Given the description of an element on the screen output the (x, y) to click on. 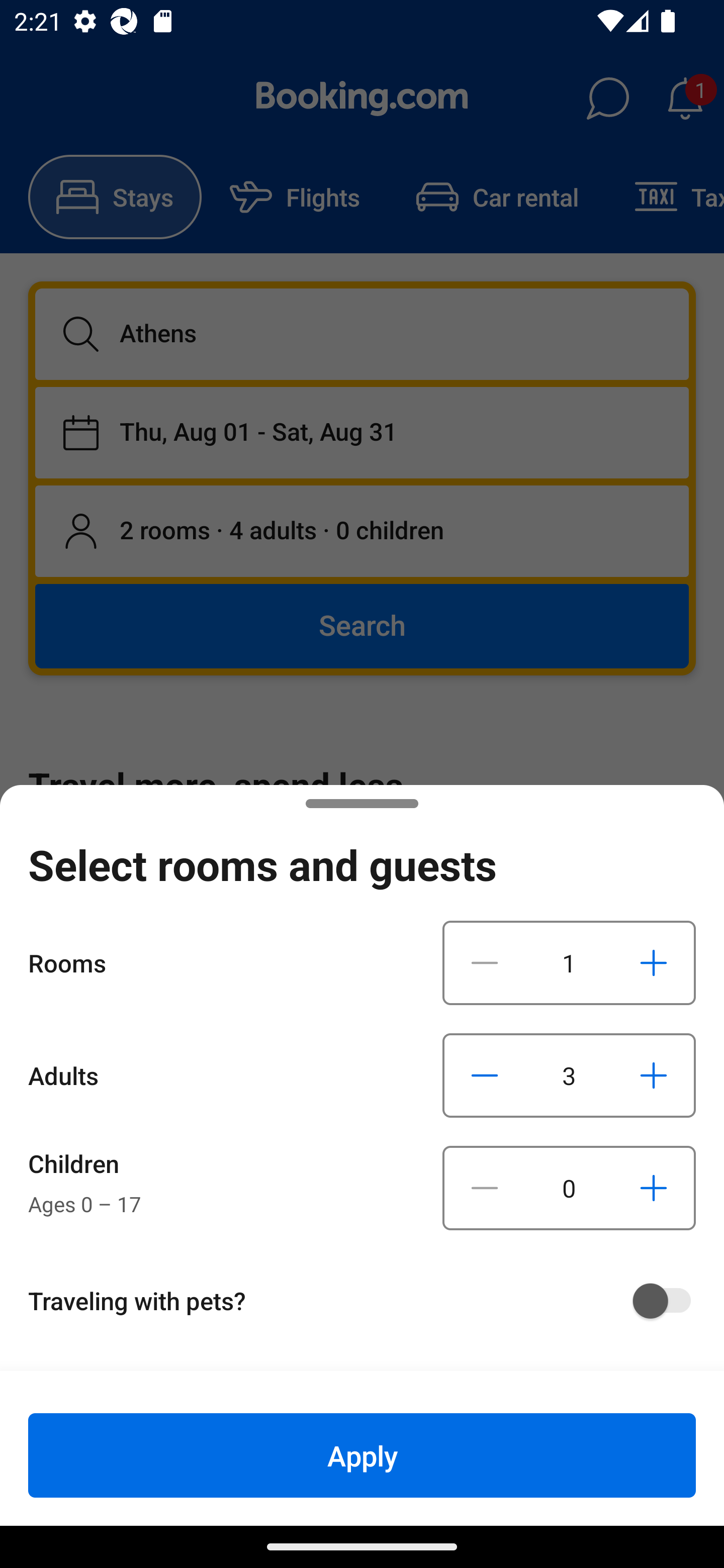
Decrease (484, 962)
Increase (653, 962)
Decrease (484, 1075)
Increase (653, 1075)
Decrease (484, 1188)
Increase (653, 1188)
Traveling with pets? (369, 1300)
Apply (361, 1454)
